Given the description of an element on the screen output the (x, y) to click on. 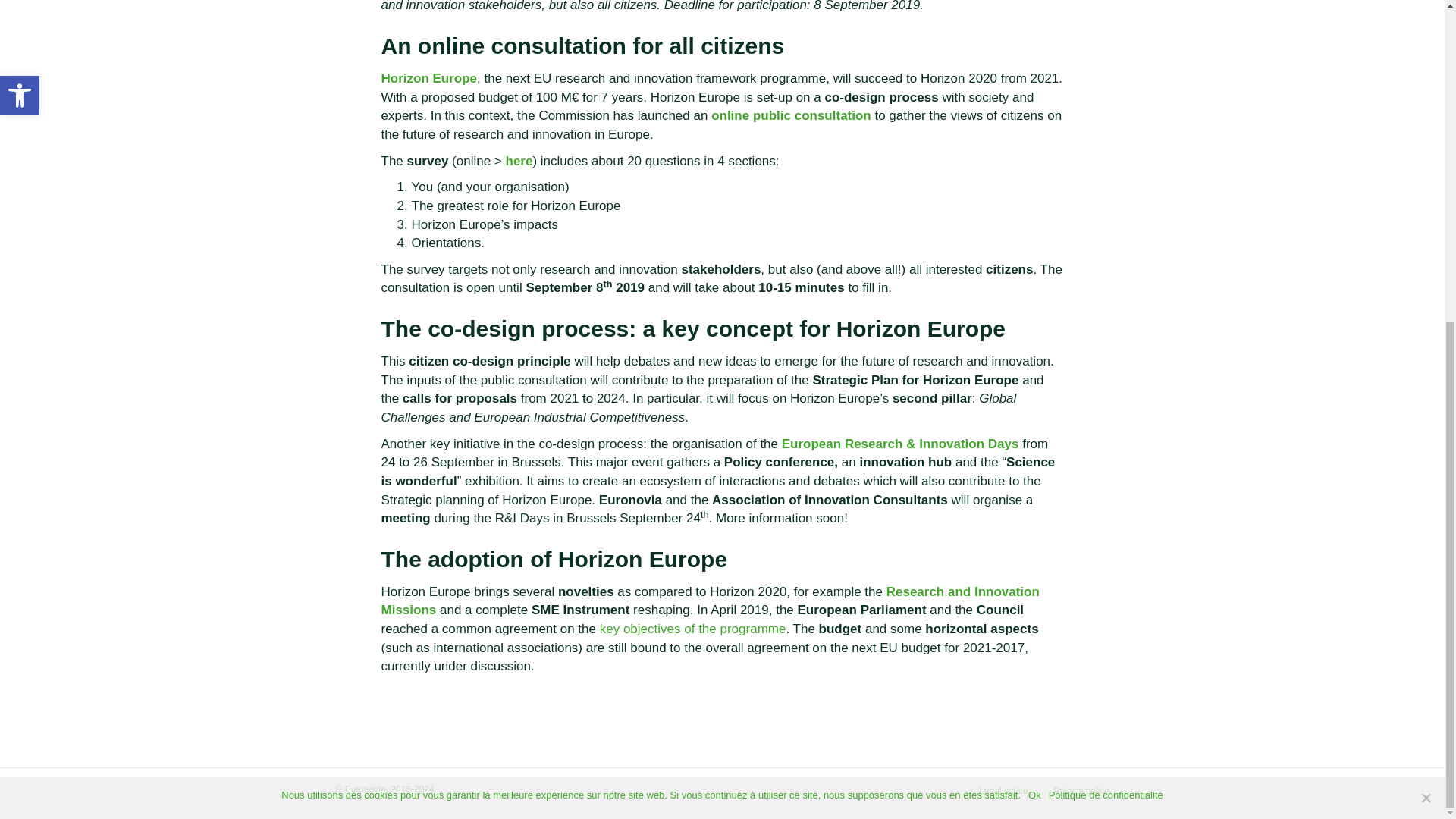
key objectives of the programme (692, 628)
Legal notice (1003, 795)
online public consultation (790, 115)
here (518, 160)
Privacy policy (1080, 795)
Non (1425, 274)
Research and Innovation Missions (709, 601)
Horizon Europe (428, 78)
